Given the description of an element on the screen output the (x, y) to click on. 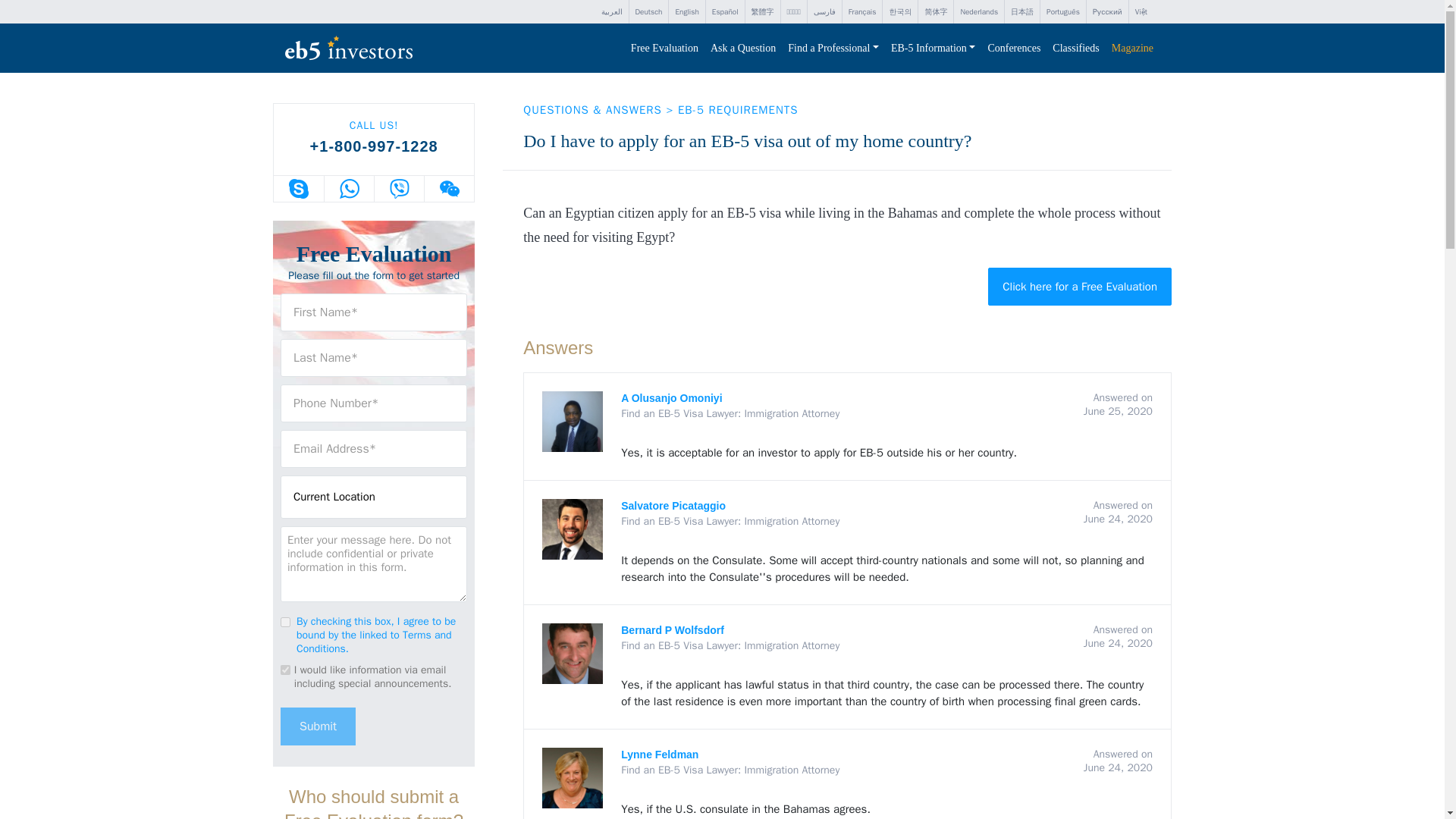
Deutsch (648, 11)
Ask a Question (742, 48)
Submit (318, 725)
Free Evaluation (664, 48)
English (686, 11)
Ask a Question (742, 48)
EB-5 Information (933, 48)
1 (285, 622)
Nederlands (978, 11)
Free Evaluation (664, 48)
